Given the description of an element on the screen output the (x, y) to click on. 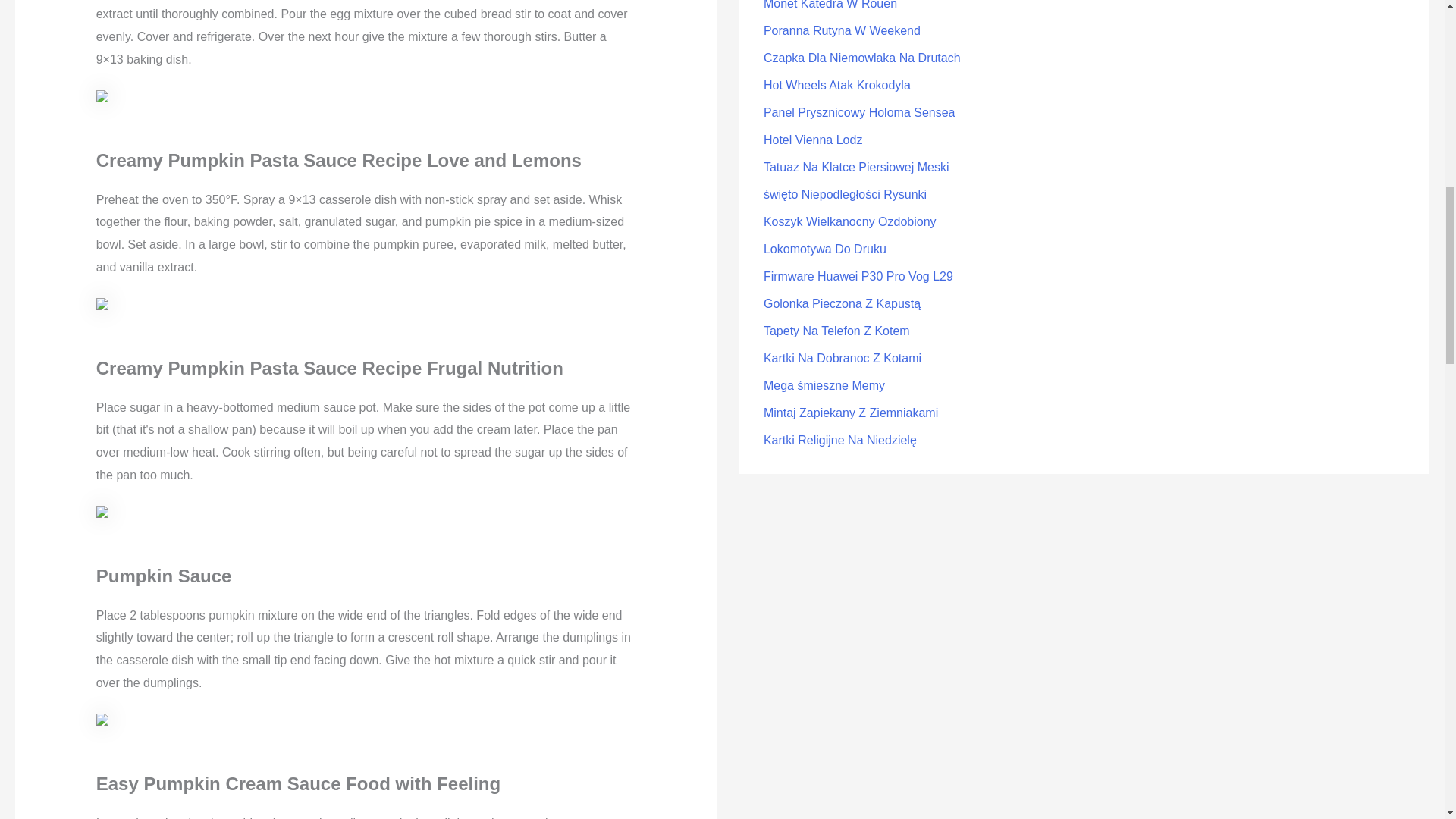
Hot Wheels Atak Krokodyla (836, 84)
Czapka Dla Niemowlaka Na Drutach (861, 57)
Monet Katedra W Rouen (829, 4)
Panel Prysznicowy Holoma Sensea (858, 112)
Poranna Rutyna W Weekend (841, 30)
